Given the description of an element on the screen output the (x, y) to click on. 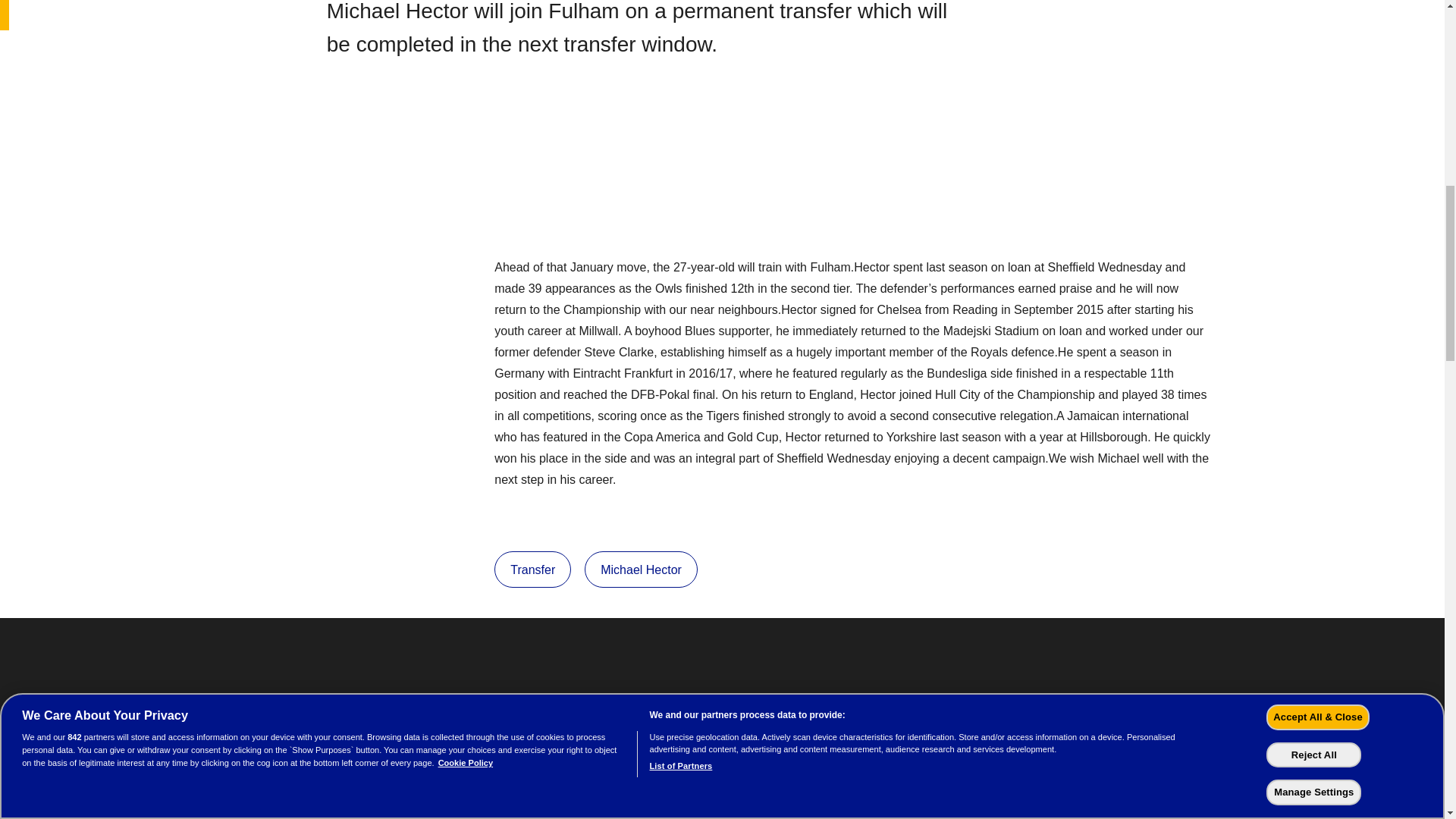
3rd party ad content (727, 174)
Transfer (532, 569)
Michael Hector (641, 569)
